Given the description of an element on the screen output the (x, y) to click on. 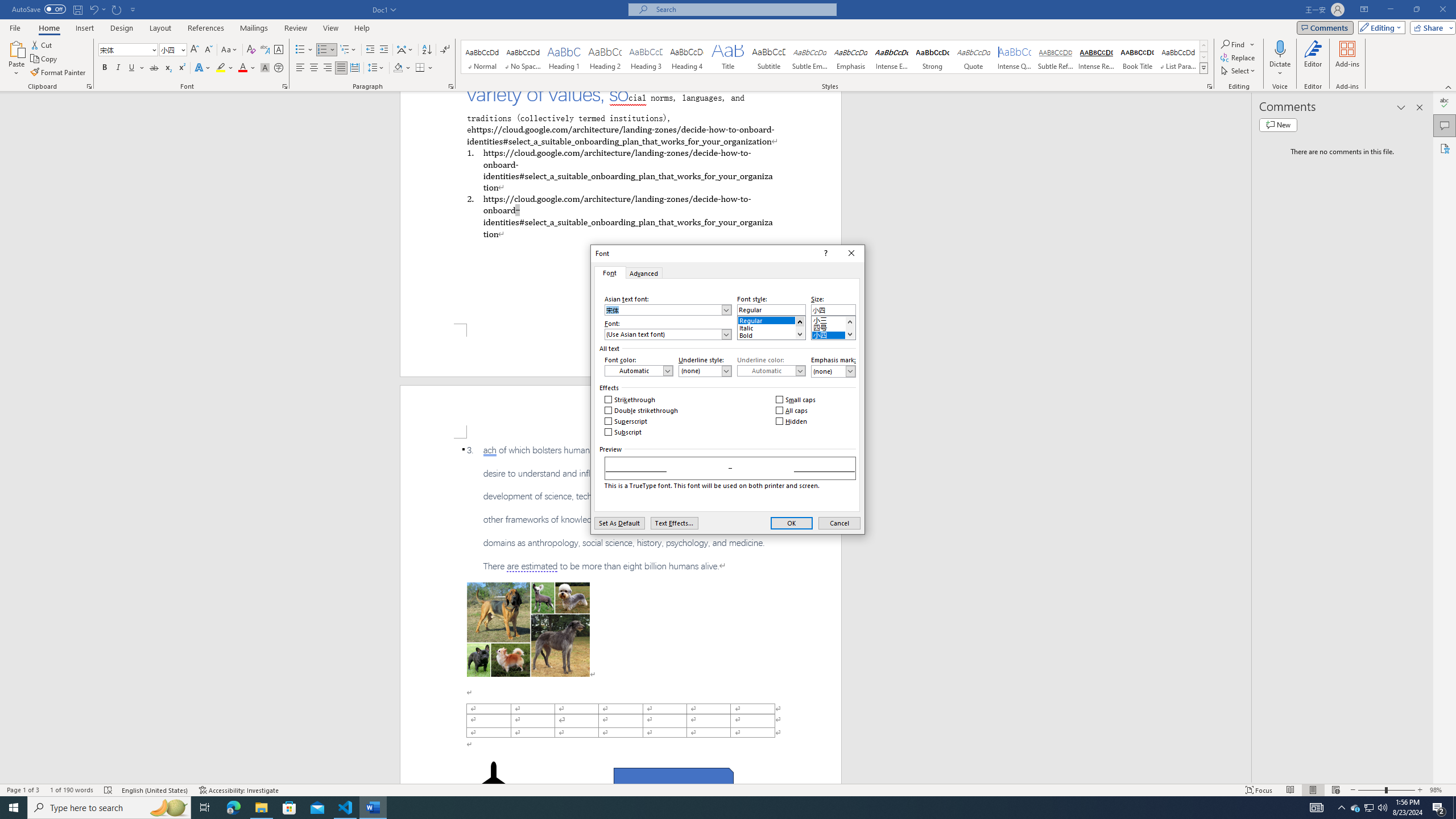
Strikethrough (630, 399)
Font Color Automatic (241, 67)
Copy (45, 58)
AutomationID: 1795 (799, 327)
Q2790: 100% (1382, 807)
Show desktop (1454, 807)
Superscript (180, 67)
Rectangle: Diagonal Corners Snipped 2 (672, 781)
Advanced (643, 272)
Enclose Characters... (278, 67)
